Given the description of an element on the screen output the (x, y) to click on. 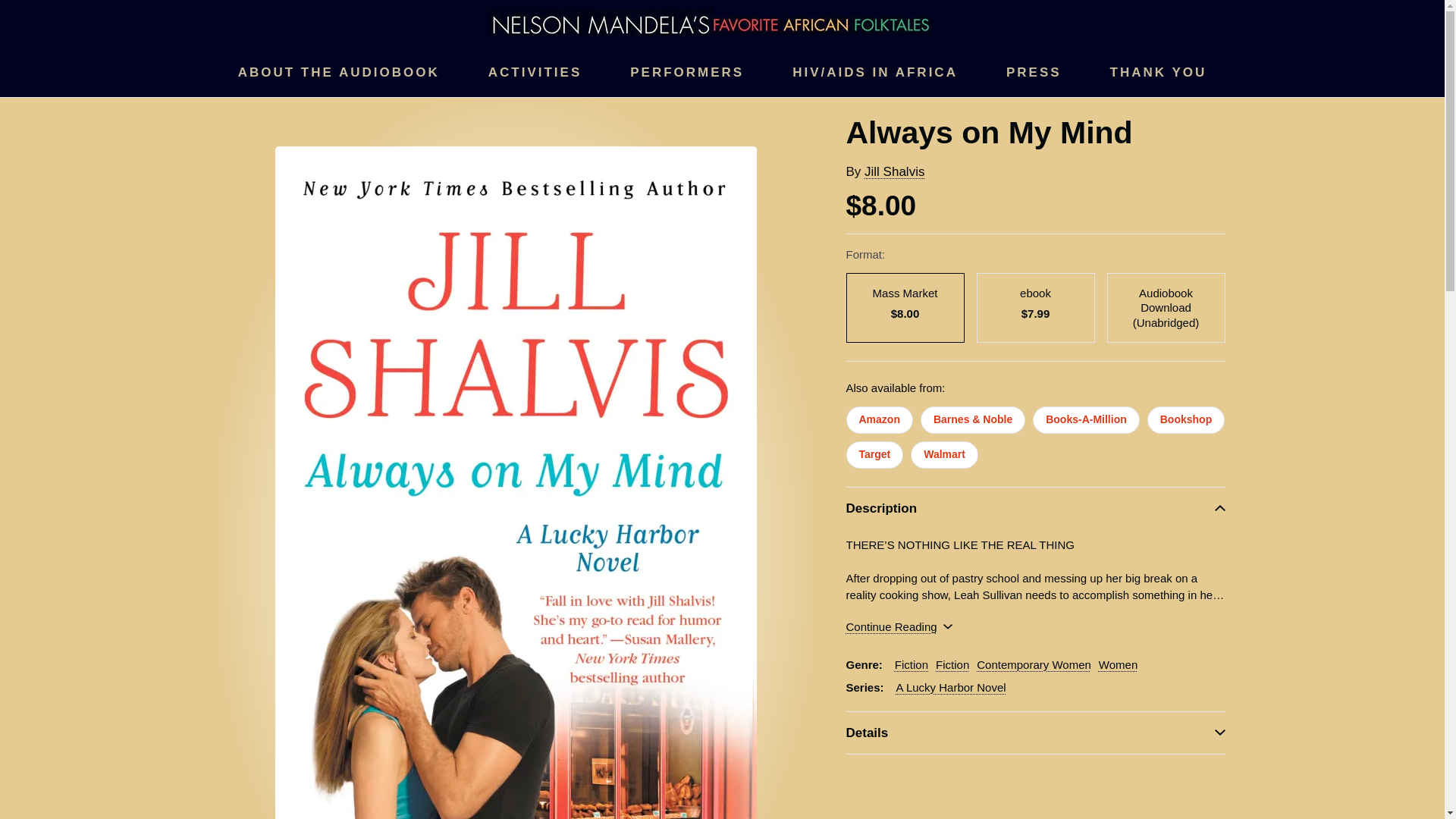
ACTIVITIES (534, 72)
Details (1035, 732)
Women (1118, 664)
Fiction (952, 664)
PRESS (1033, 72)
Go to Hachette Book Group home (709, 23)
Target (874, 454)
Continue Reading (898, 627)
A Lucky Harbor Novel (951, 686)
ABOUT THE AUDIOBOOK (338, 72)
Bookshop (1185, 420)
Description (1035, 508)
Amazon (878, 420)
THANK YOU (1158, 72)
Jill Shalvis (894, 171)
